Given the description of an element on the screen output the (x, y) to click on. 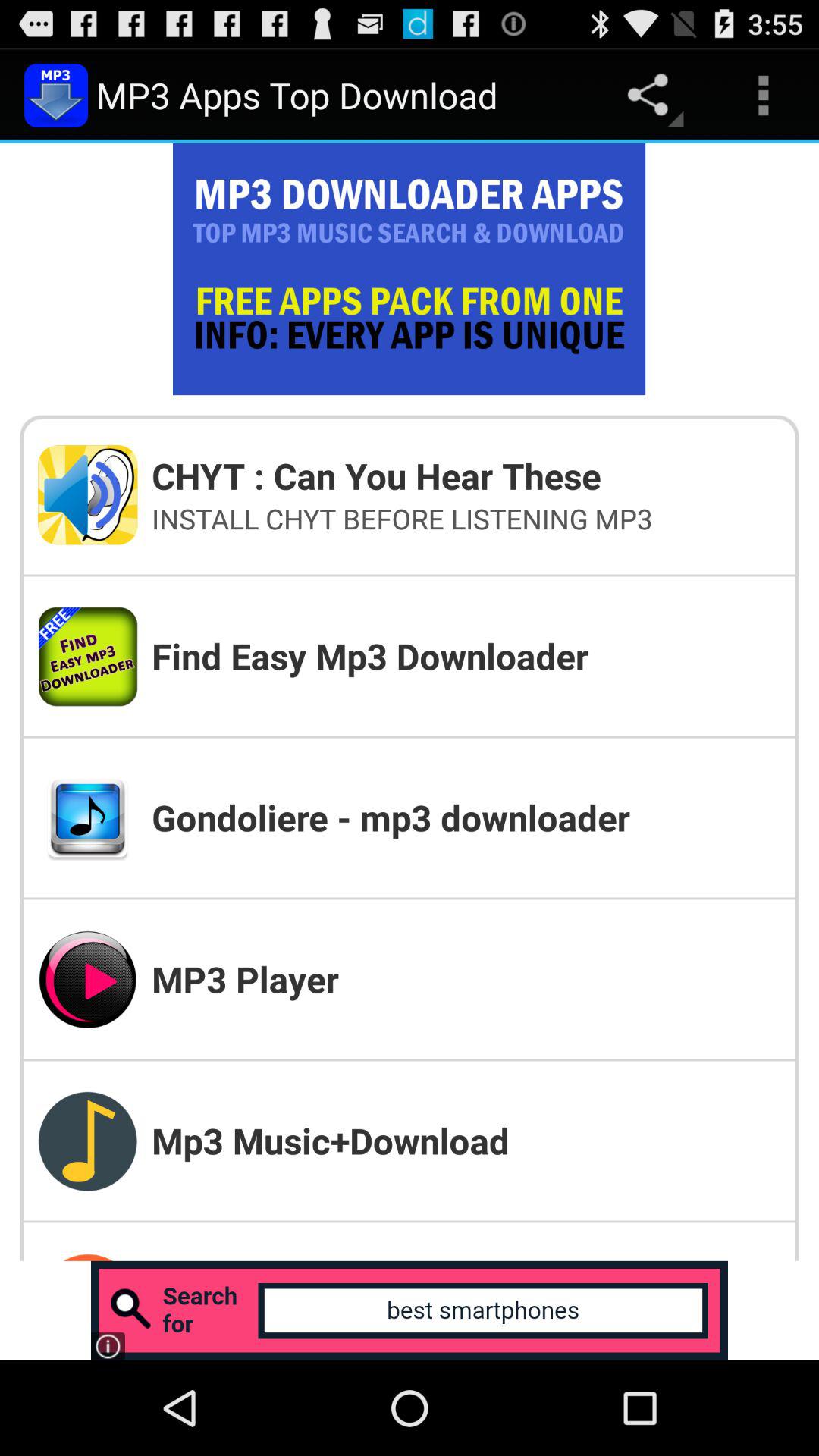
turn off the app above the mp3 player icon (465, 817)
